Given the description of an element on the screen output the (x, y) to click on. 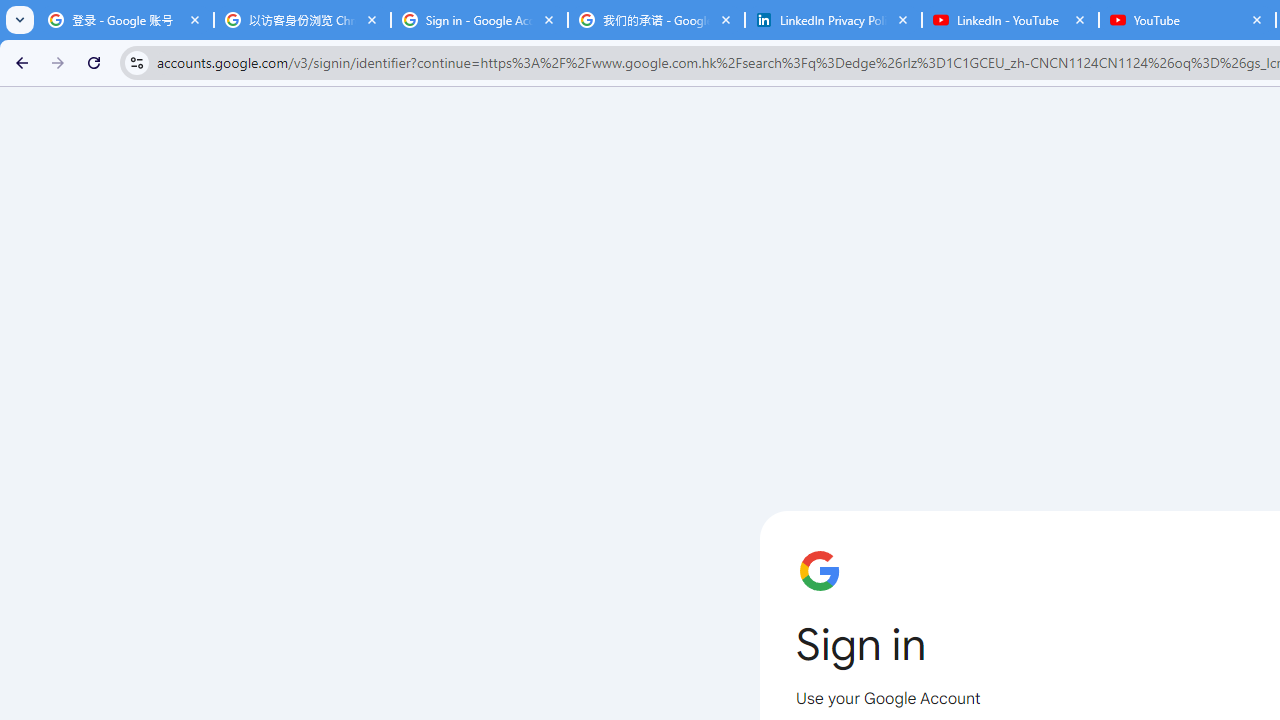
LinkedIn Privacy Policy (833, 20)
Sign in - Google Accounts (479, 20)
LinkedIn - YouTube (1010, 20)
